Given the description of an element on the screen output the (x, y) to click on. 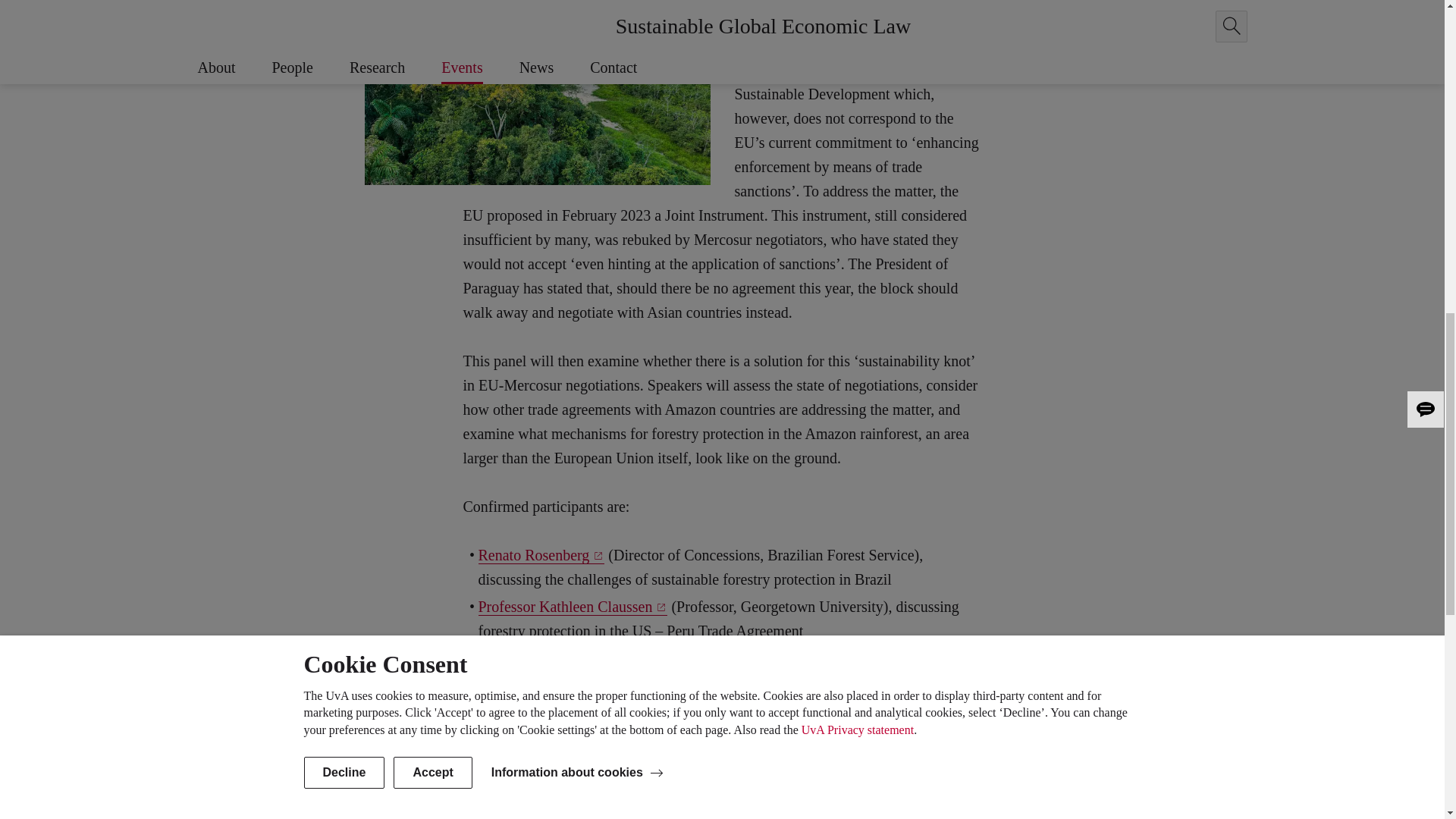
Christina Eckes (586, 764)
Dr Geraldo Vidigal (535, 712)
Pedro Gazzinelli Colares (561, 658)
Professor Kathleen Claussen (571, 606)
EU-Mercosur Association Agreement (835, 15)
Renato Rosenberg (540, 555)
